Given the description of an element on the screen output the (x, y) to click on. 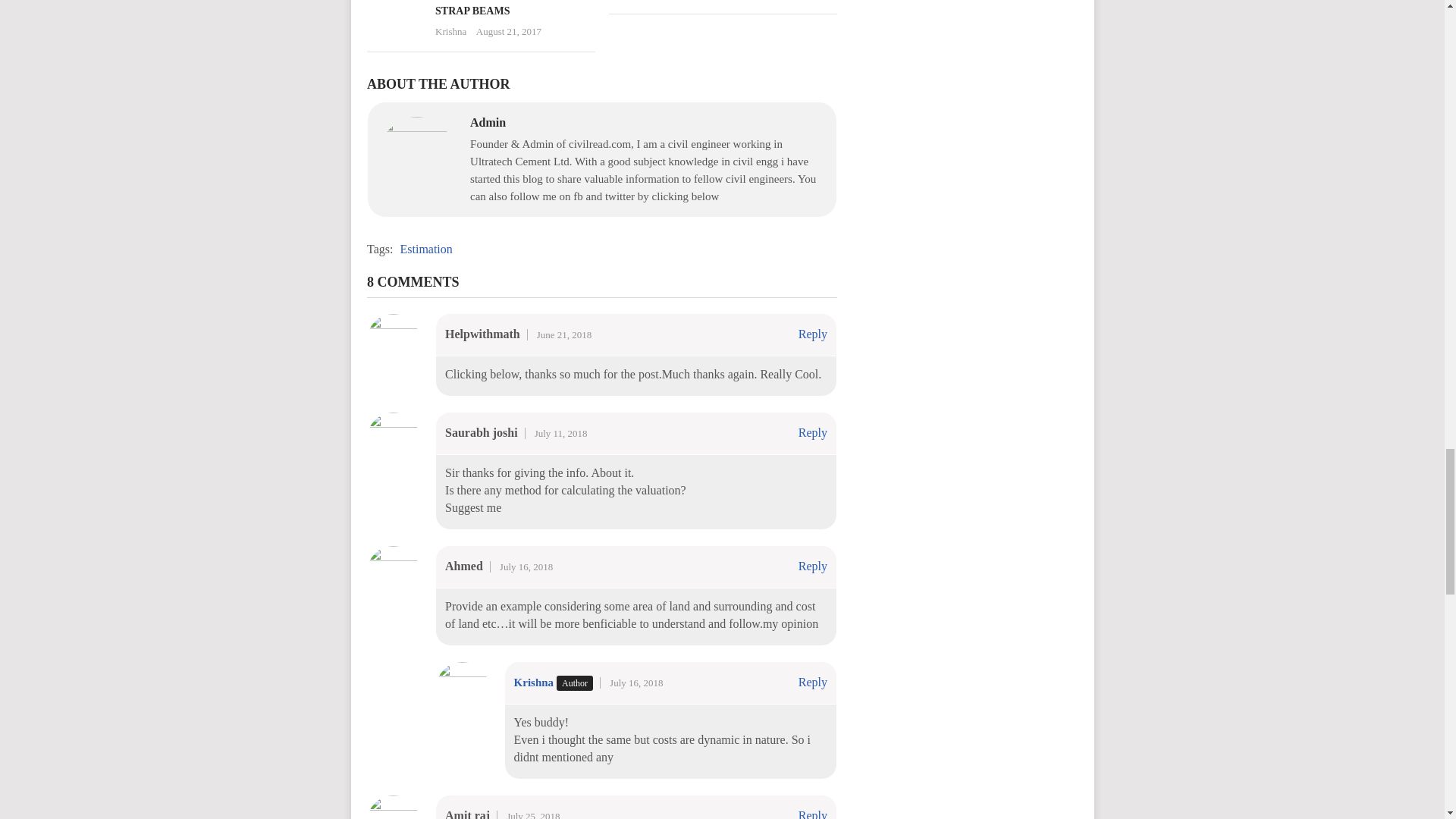
Posts by Krishna (450, 30)
